Given the description of an element on the screen output the (x, y) to click on. 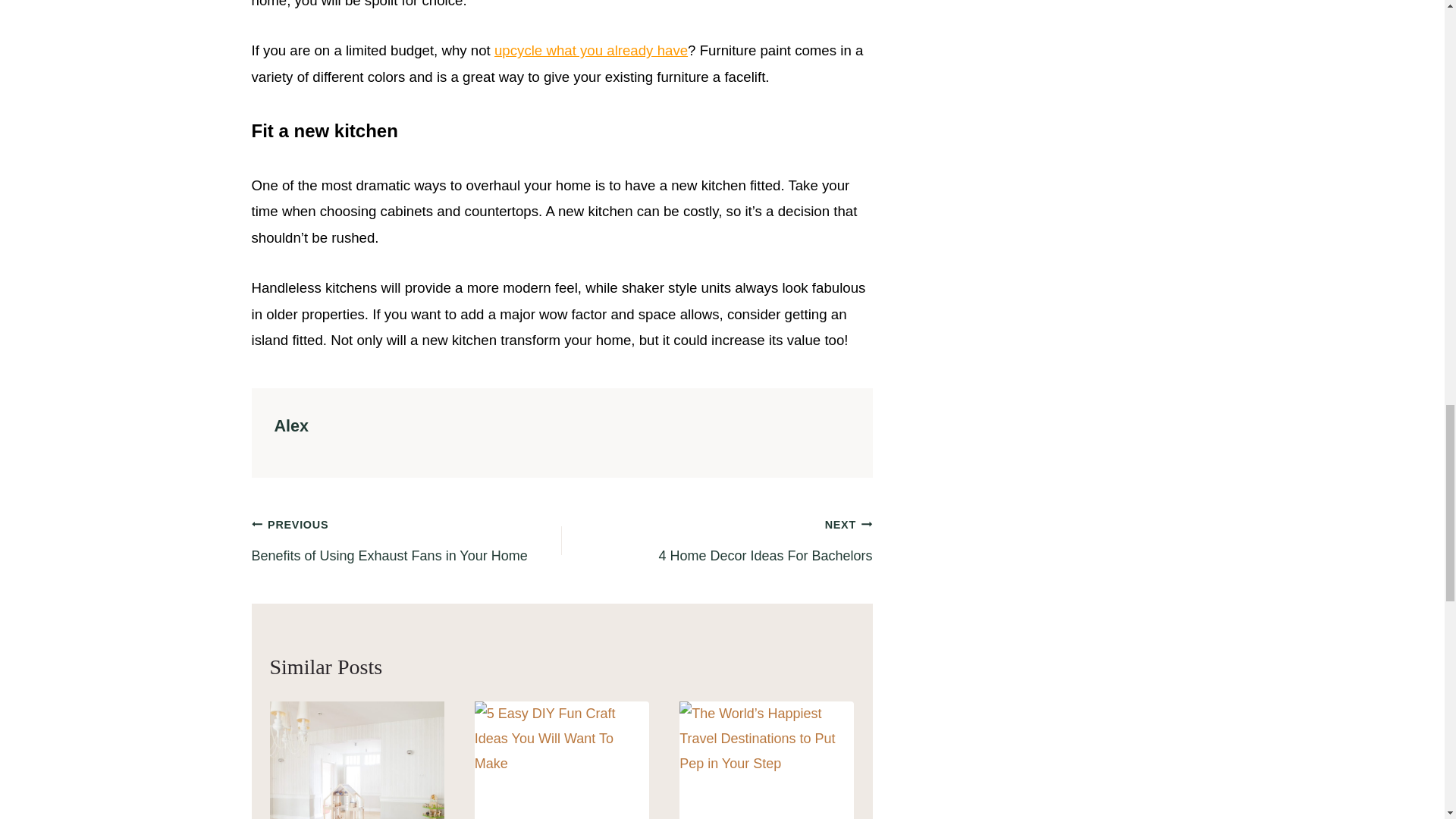
upcycle what you already have (406, 540)
